Given the description of an element on the screen output the (x, y) to click on. 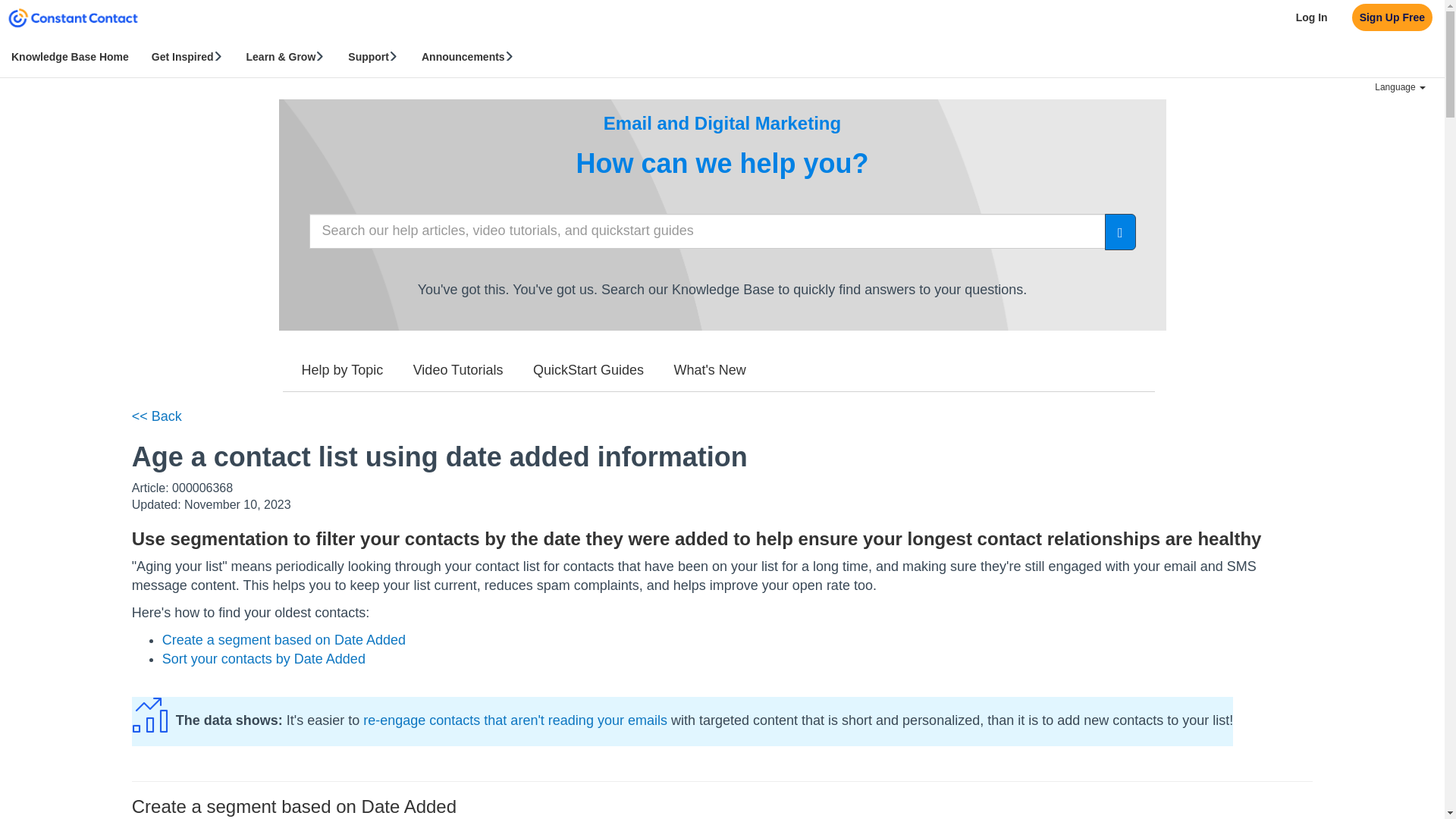
Log In (1311, 17)
Language (1399, 86)
Help by Topic (341, 370)
What's New (709, 370)
Support (373, 56)
Get Inspired (186, 56)
Announcements (467, 56)
Video Tutorials (458, 370)
Log In (1311, 17)
QuickStart Guides (588, 370)
Knowledge Base Home (69, 56)
Sign Up Free (1392, 17)
Sign Up Free (1392, 17)
